Given the description of an element on the screen output the (x, y) to click on. 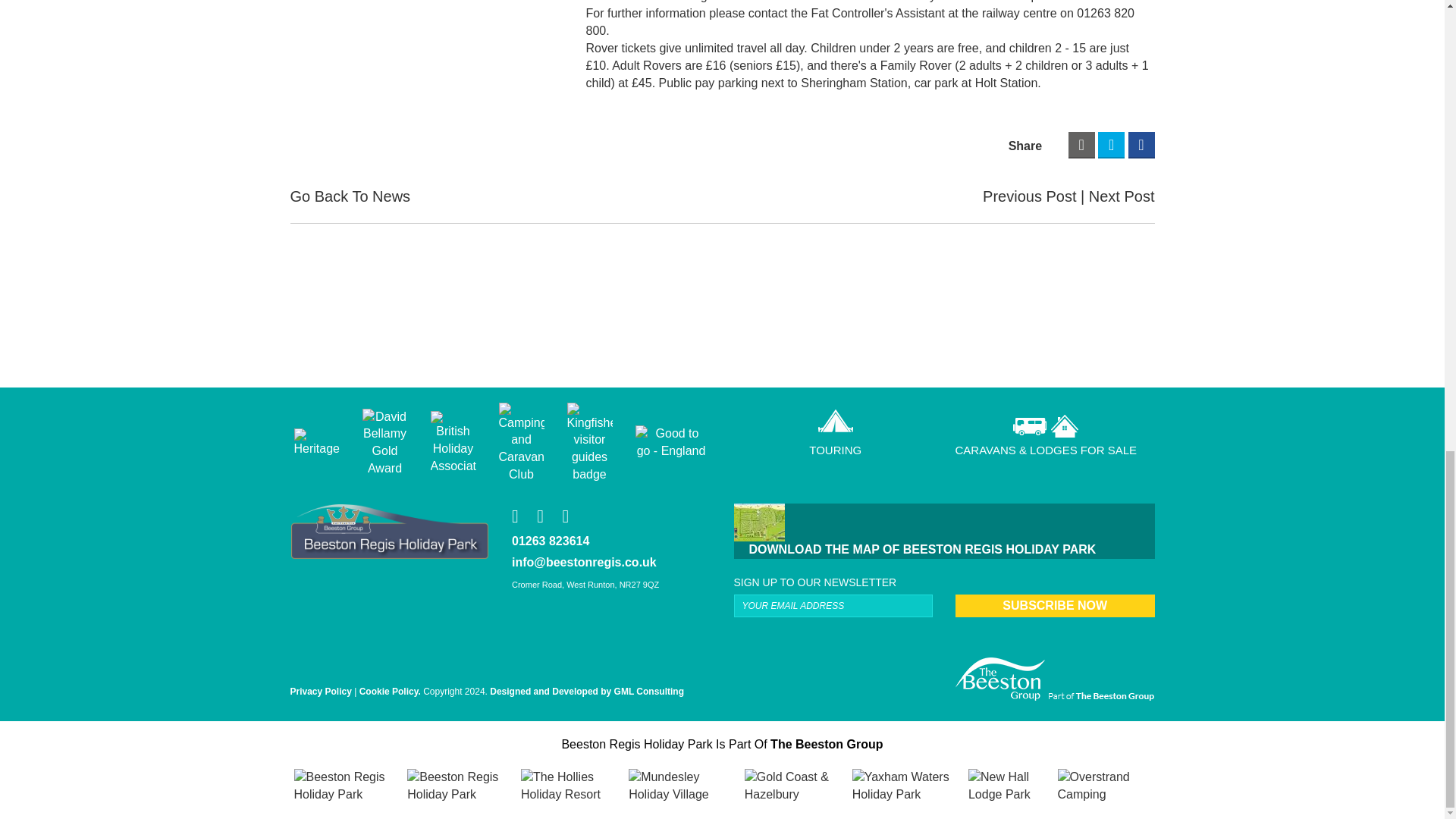
Previous Post (1033, 196)
Next Post (1121, 196)
Go Back To News (349, 196)
